Given the description of an element on the screen output the (x, y) to click on. 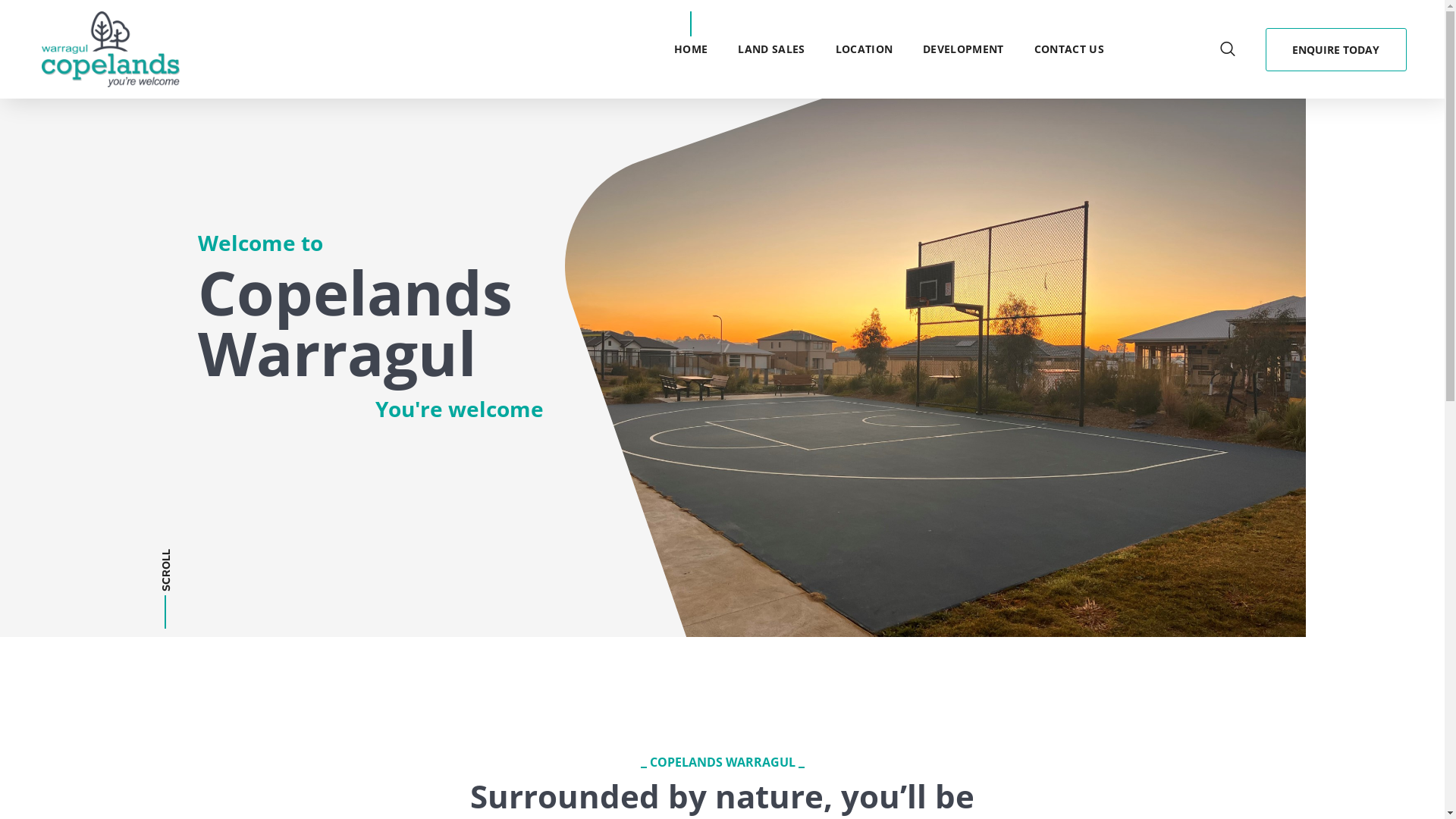
HOME Element type: text (690, 49)
CONTACT US Element type: text (1069, 49)
LOCATION Element type: text (864, 49)
Search Element type: text (1064, 441)
DEVELOPMENT Element type: text (963, 49)
LAND SALES Element type: text (770, 49)
ENQUIRE TODAY Element type: text (1335, 49)
